Given the description of an element on the screen output the (x, y) to click on. 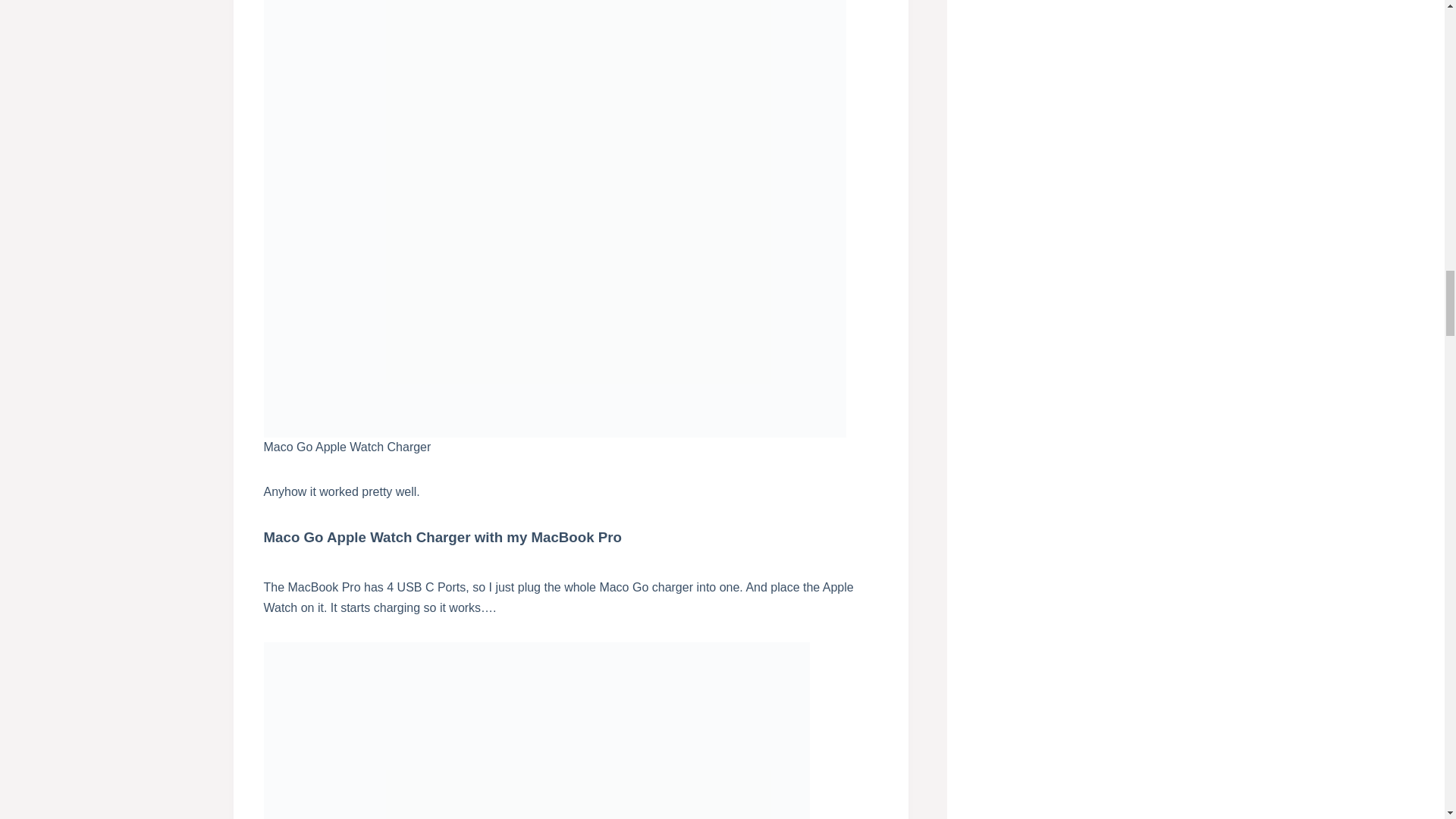
Maco Go Apple Watch Charger 6 (536, 730)
